Given the description of an element on the screen output the (x, y) to click on. 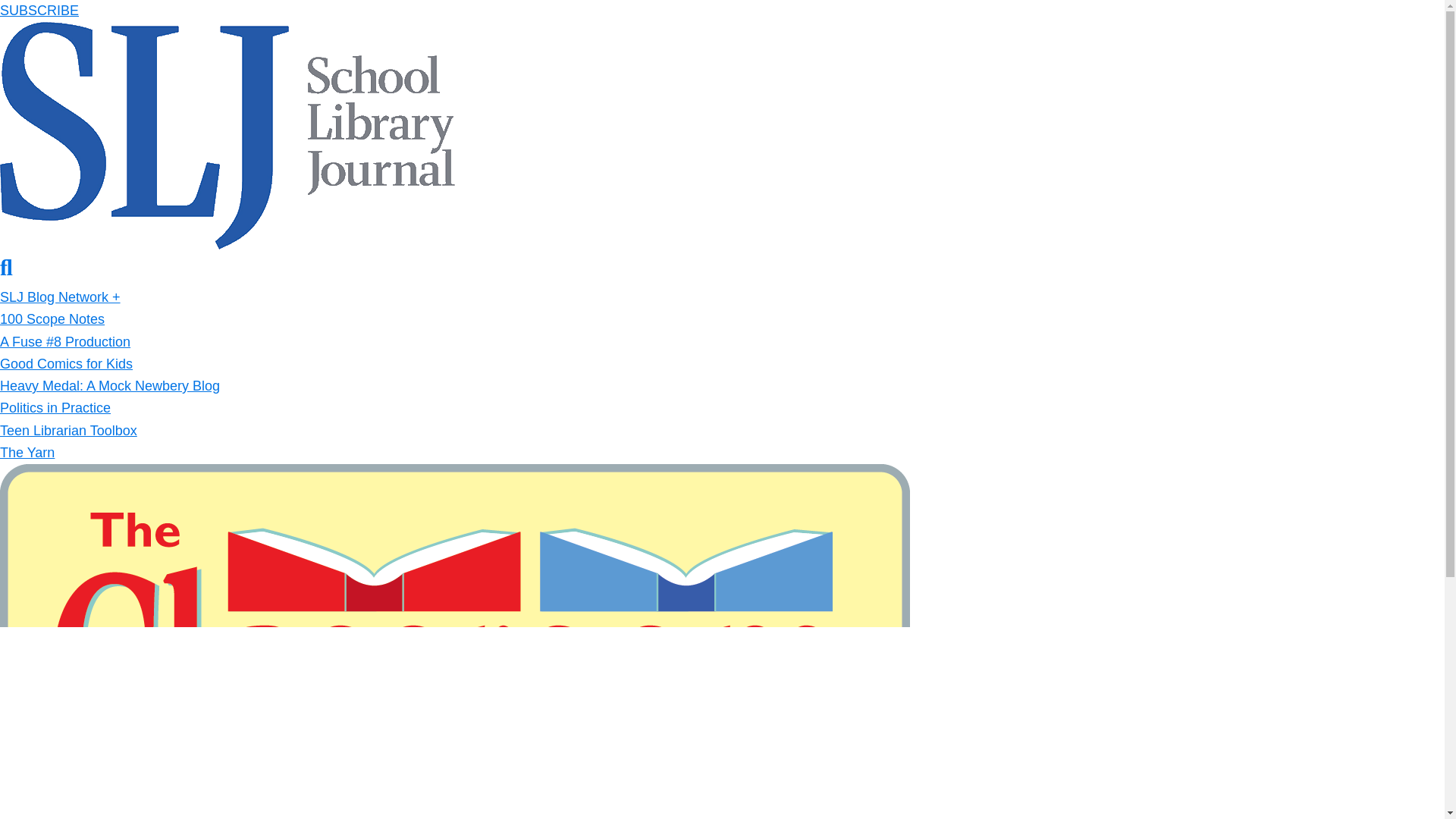
SUBSCRIBE (39, 10)
Teen Librarian Toolbox (68, 430)
Heavy Medal: A Mock Newbery Blog (109, 385)
Good Comics for Kids (66, 363)
Politics in Practice (55, 407)
The Yarn (27, 452)
100 Scope Notes (52, 319)
